Given the description of an element on the screen output the (x, y) to click on. 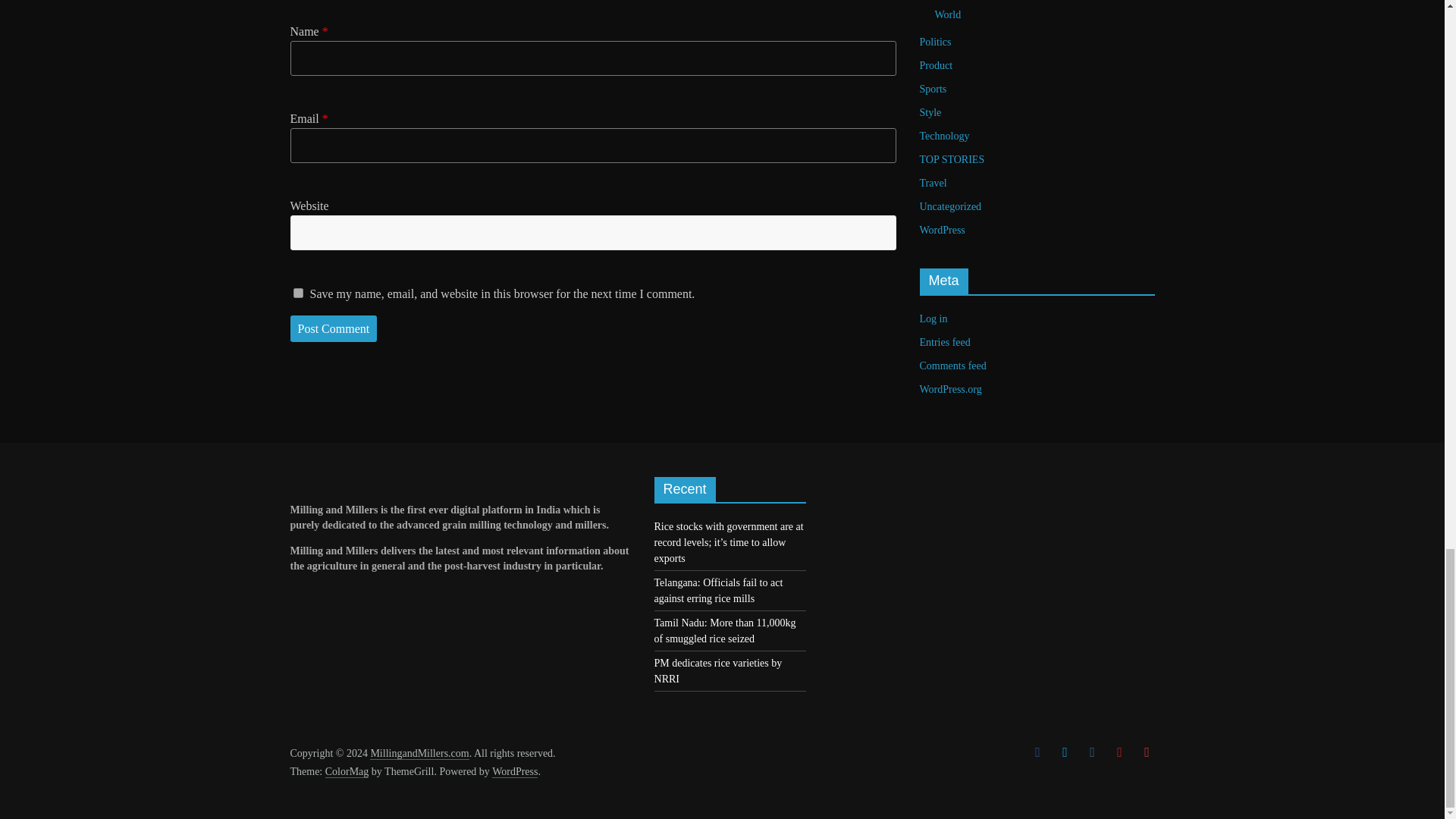
yes (297, 293)
WordPress (514, 771)
MillingandMillers.com (418, 753)
ColorMag (346, 771)
Post Comment (333, 329)
